Given the description of an element on the screen output the (x, y) to click on. 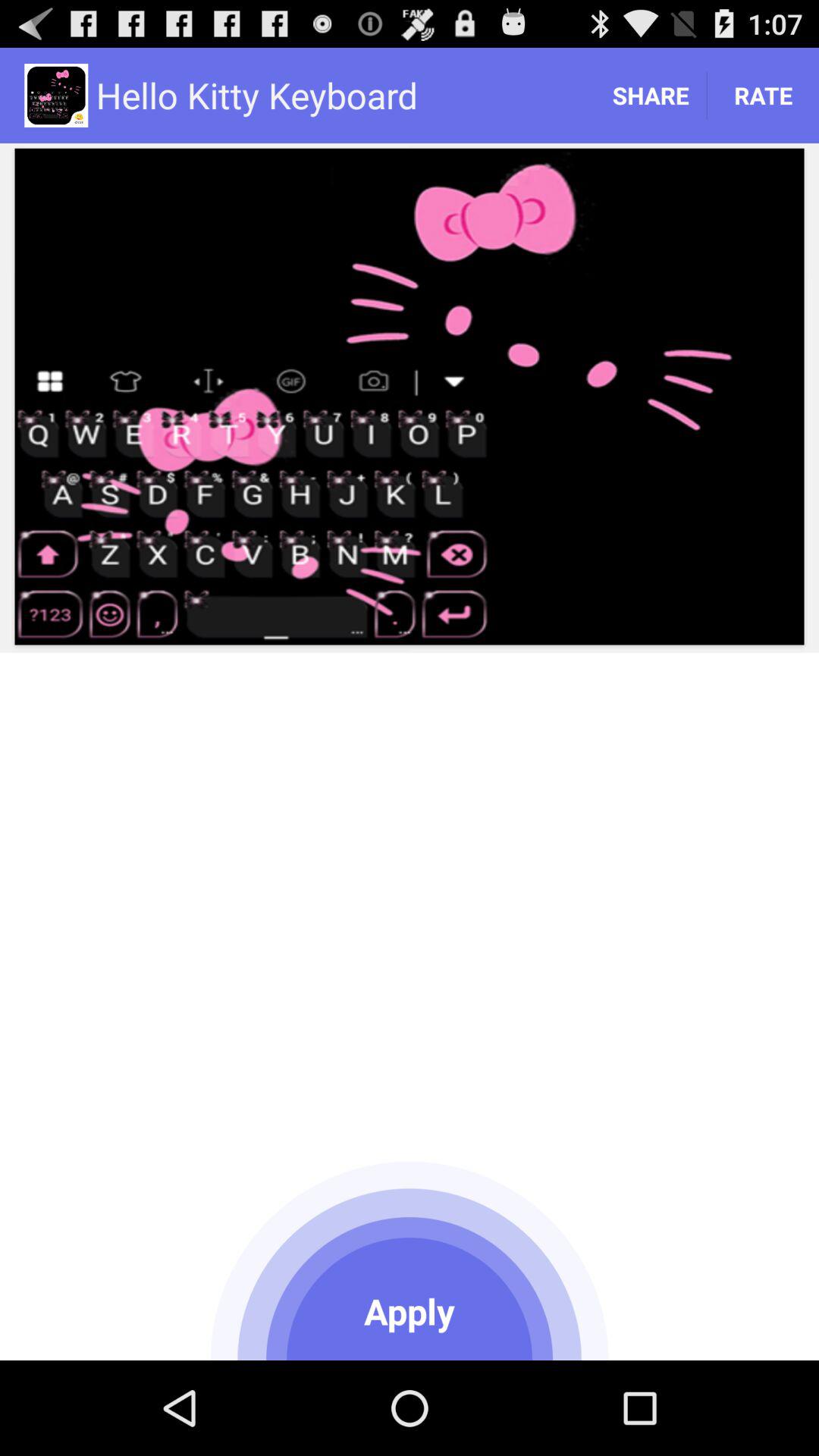
turn on the item next to share item (763, 95)
